Given the description of an element on the screen output the (x, y) to click on. 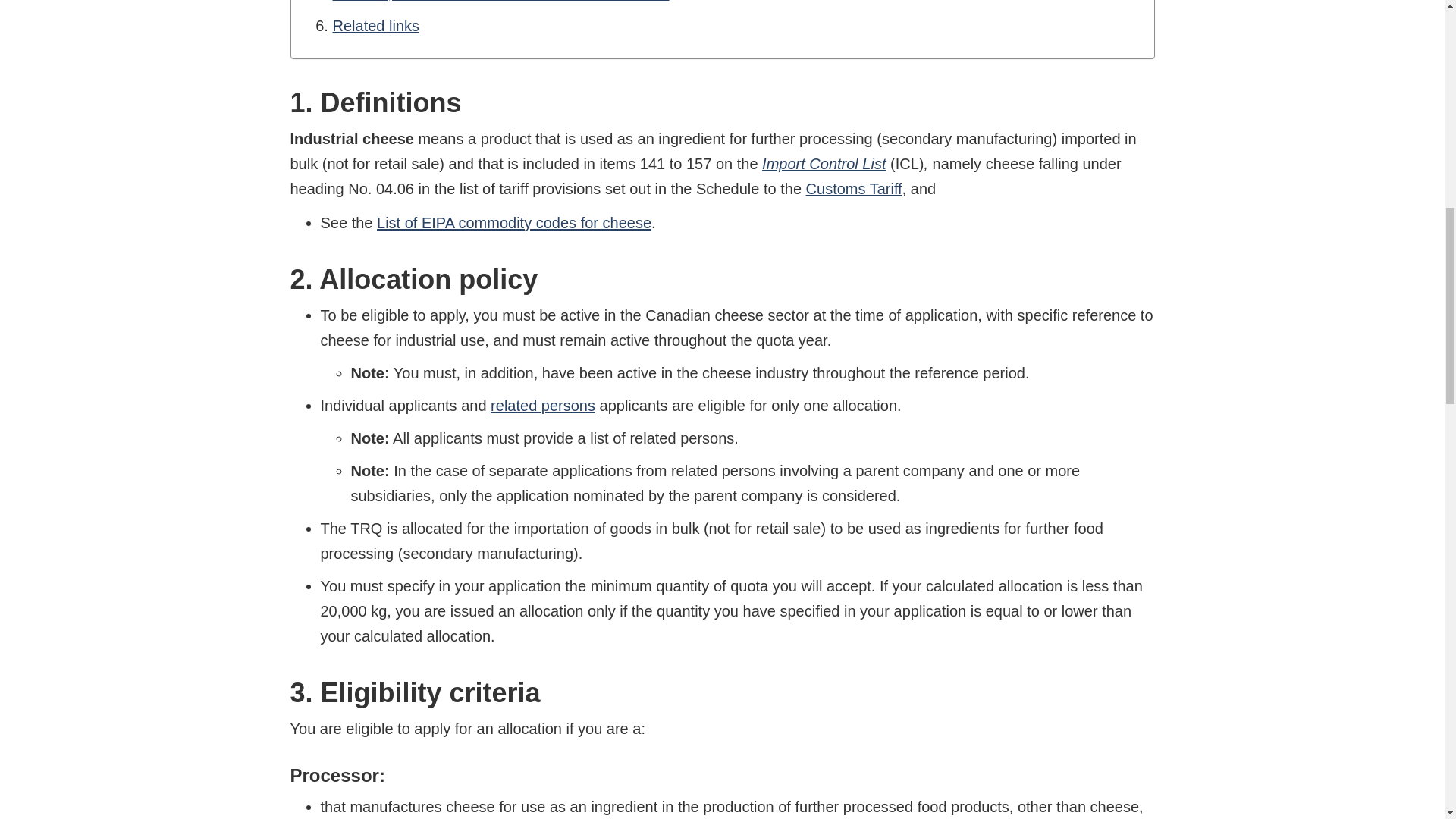
Customs Tariff (854, 188)
Import Control List (823, 163)
related persons (542, 405)
Related links (375, 25)
List of EIPA commodity codes for cheese (513, 222)
